Given the description of an element on the screen output the (x, y) to click on. 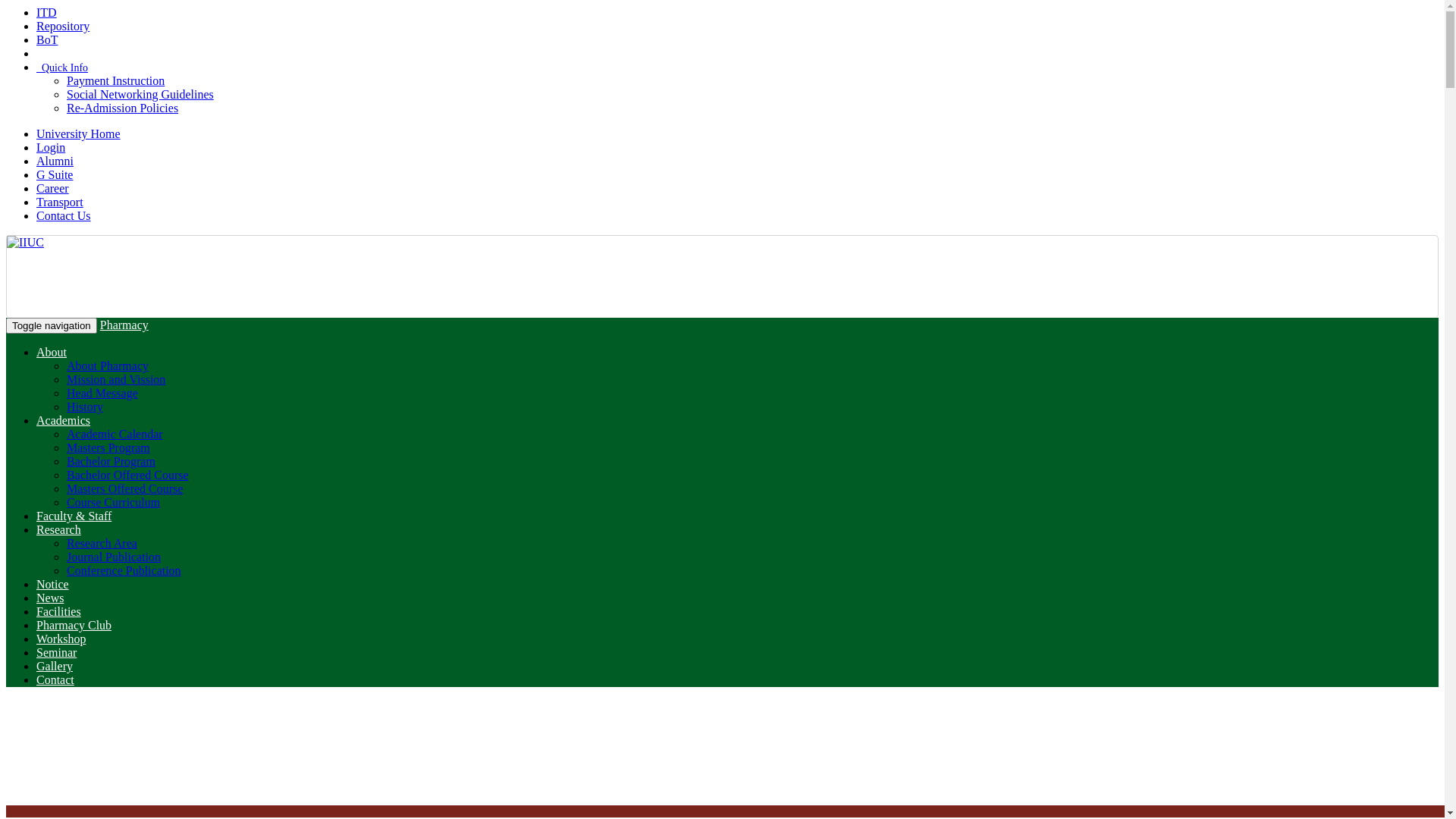
Conference Publication Element type: text (123, 570)
Bachelor Program Element type: text (110, 461)
Notice Element type: text (52, 583)
Facilities Element type: text (58, 611)
Re-Admission Policies Element type: text (122, 107)
Login Element type: text (50, 147)
About Pharmacy Element type: text (107, 365)
Mission and Vission Element type: text (115, 379)
News Element type: text (49, 597)
University Home Element type: text (78, 133)
BoT Element type: text (46, 39)
Quick Contact Element type: text (72, 53)
G Suite Element type: text (54, 174)
Journal Publication Element type: text (113, 556)
Contact Element type: text (55, 679)
Contact Us Element type: text (63, 215)
About Element type: text (51, 351)
Academic Calendar Element type: text (114, 433)
Transport Element type: text (59, 201)
Bachelor Offered Course Element type: text (127, 474)
Pharmacy Element type: text (124, 324)
Alumni Element type: text (54, 160)
Masters Program Element type: text (108, 447)
Workshop Element type: text (60, 638)
Repository Element type: text (62, 25)
Social Networking Guidelines Element type: text (139, 93)
Payment Instruction Element type: text (115, 80)
Research Element type: text (58, 529)
Faculty & Staff Element type: text (73, 515)
Head Message Element type: text (102, 392)
Masters Offered Course Element type: text (124, 488)
Research Area Element type: text (101, 542)
Toggle navigation Element type: text (51, 325)
  Quick Info Element type: text (61, 67)
Academics Element type: text (63, 420)
ITD Element type: text (46, 12)
Seminar Element type: text (56, 652)
Gallery Element type: text (54, 665)
Career Element type: text (52, 188)
Pharmacy Club Element type: text (73, 624)
History Element type: text (84, 406)
Course Curriculum Element type: text (113, 501)
